Given the description of an element on the screen output the (x, y) to click on. 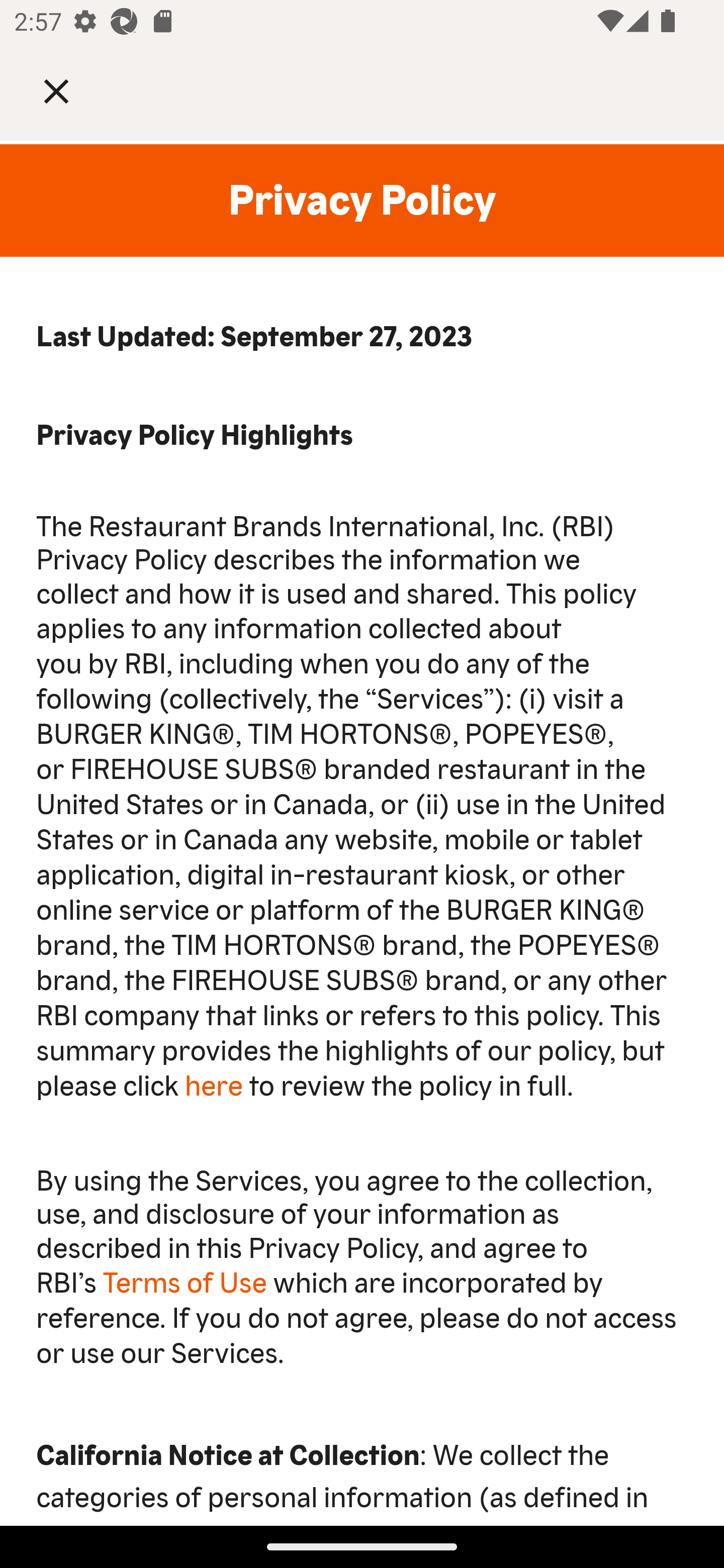
 (70, 90)
